Given the description of an element on the screen output the (x, y) to click on. 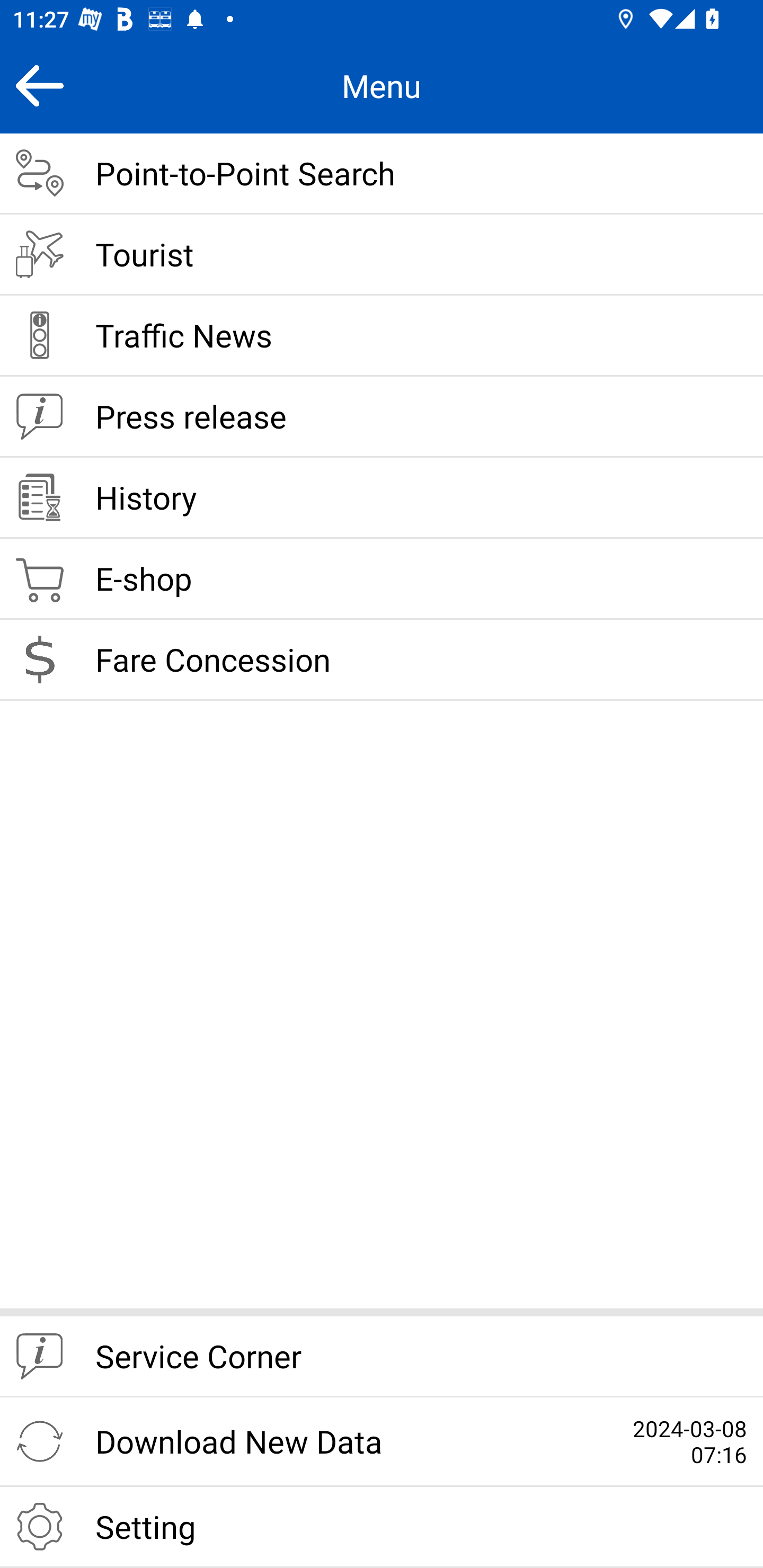
Back (39, 85)
Point-to-Point Search (381, 173)
Tourist (381, 255)
Traffic News (381, 336)
Press release (381, 416)
History (381, 498)
E-shop (381, 579)
Fare Concession (381, 659)
Service Corner (381, 1357)
Download New Data 2024-03-08
07:16 (381, 1441)
Setting (381, 1527)
